Given the description of an element on the screen output the (x, y) to click on. 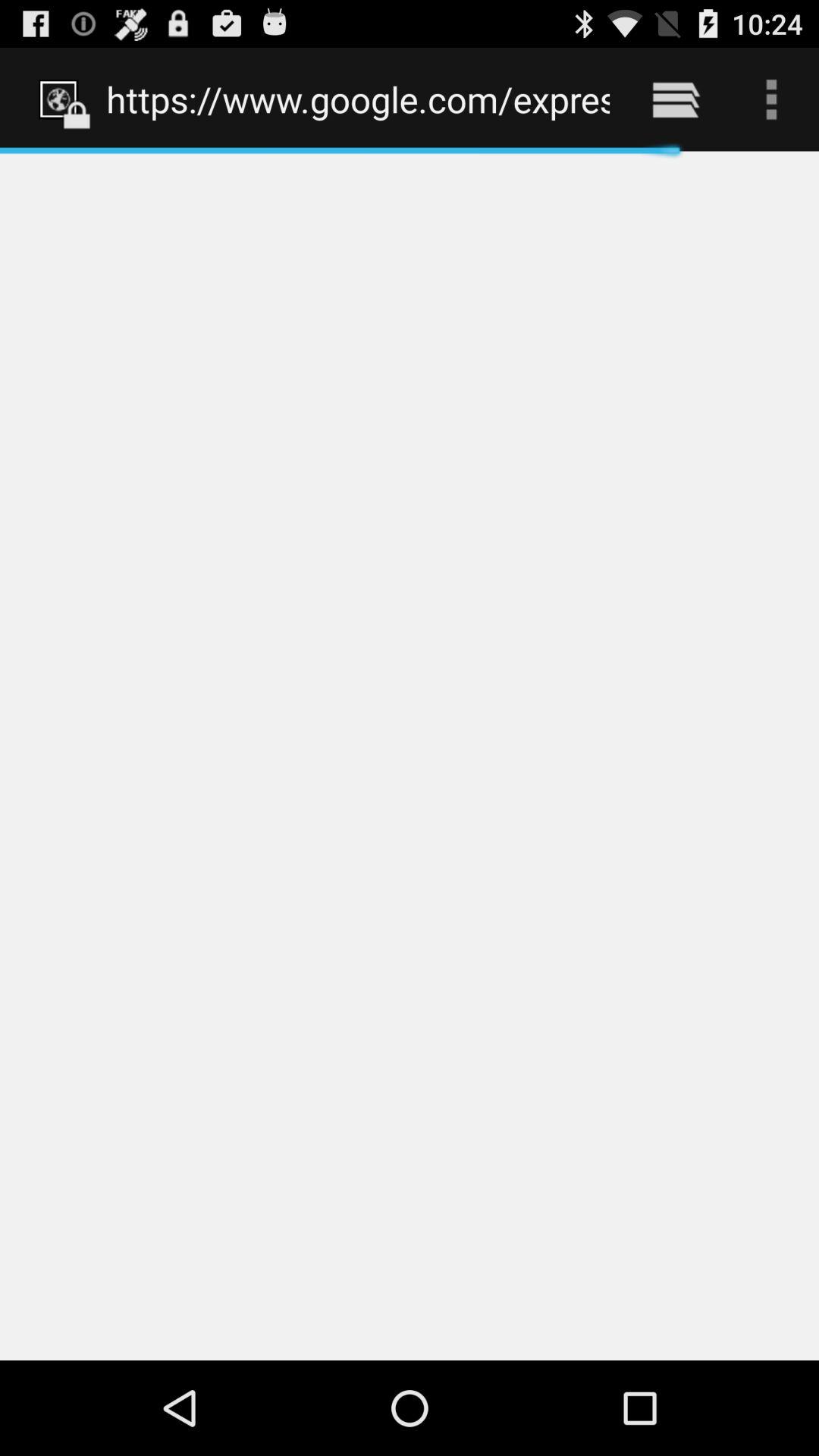
select icon next to https www google (675, 99)
